Given the description of an element on the screen output the (x, y) to click on. 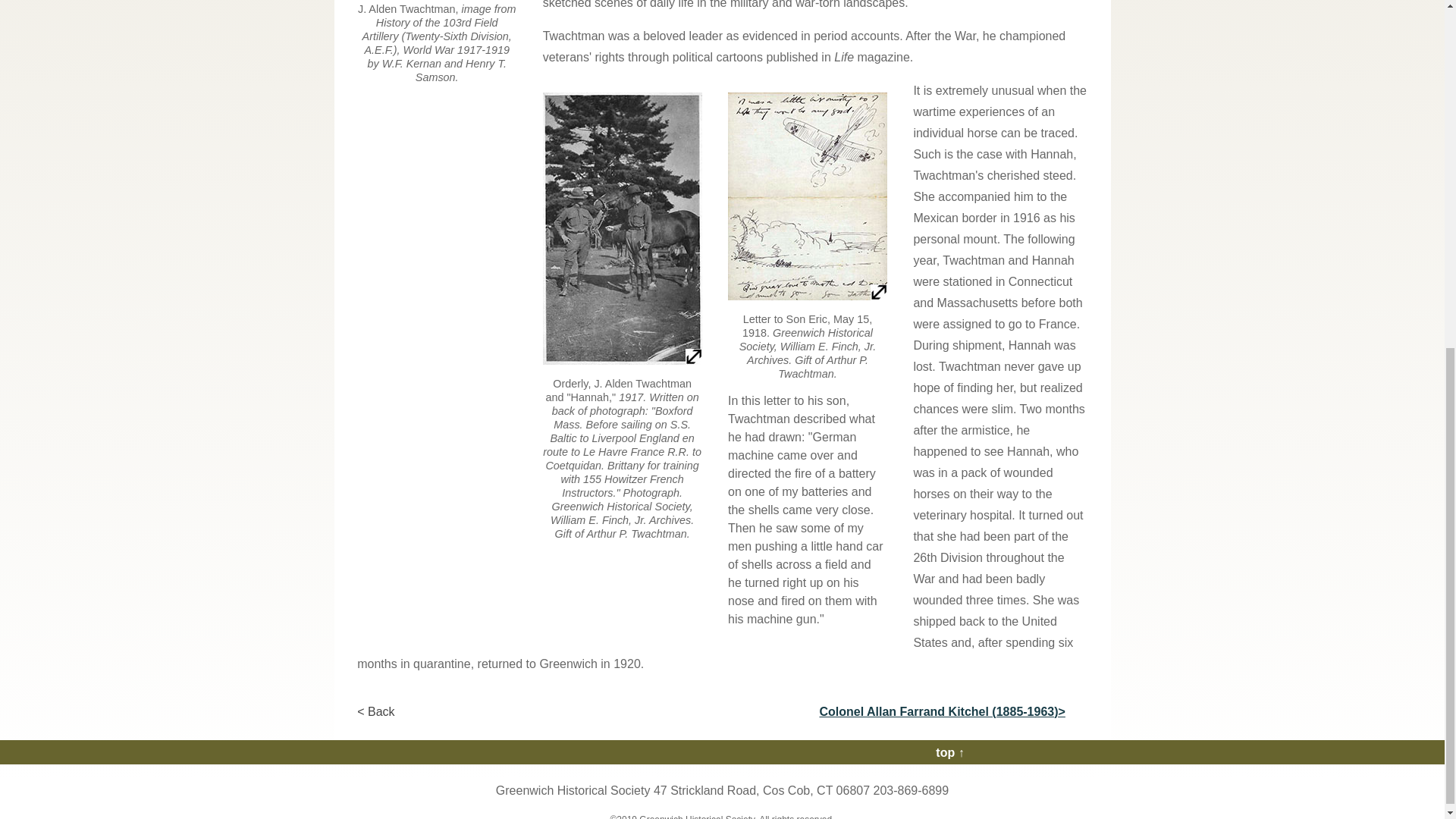
go to top of page (948, 752)
